Given the description of an element on the screen output the (x, y) to click on. 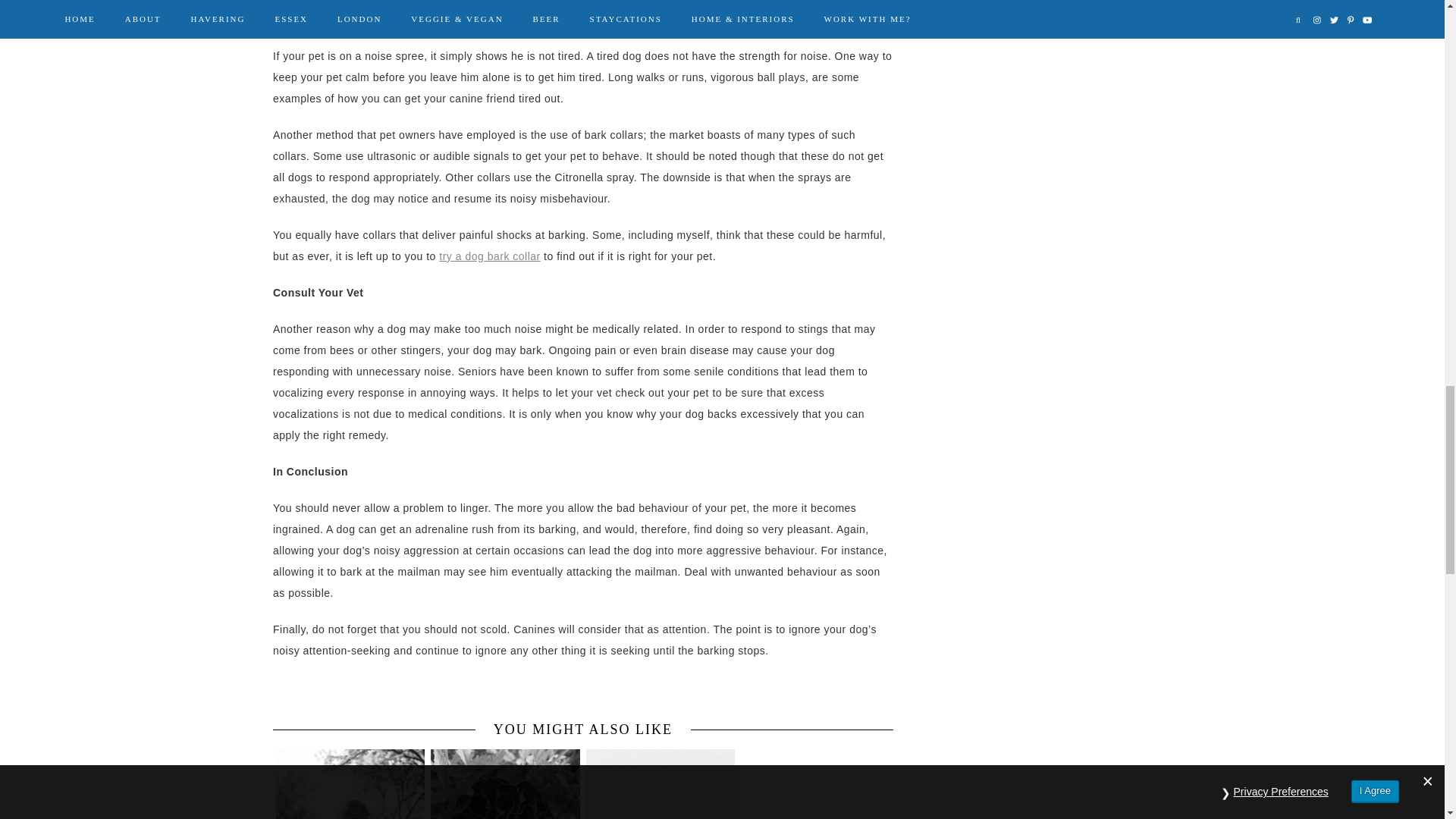
try a dog bark collar (489, 256)
DOG WALKING KIT. (815, 764)
